Given the description of an element on the screen output the (x, y) to click on. 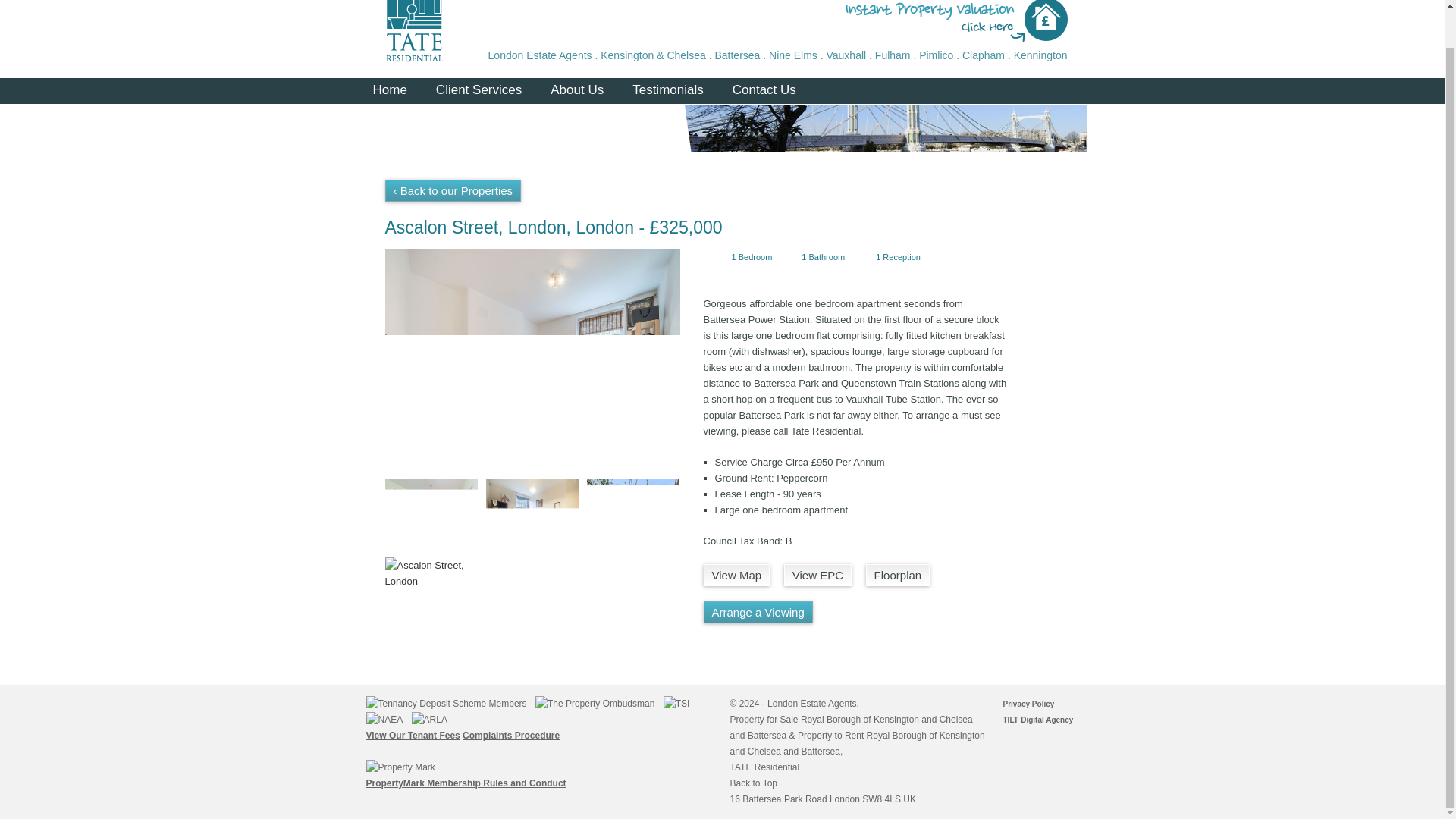
Floorplan (898, 575)
Rent (502, 126)
Buy (406, 126)
View EPC (817, 575)
Complaints Procedure (511, 735)
PropertyMark Membership Rules and Conduct (465, 783)
About Us (576, 90)
View Map (736, 575)
Contact Us (763, 90)
TILT (1010, 719)
